Given the description of an element on the screen output the (x, y) to click on. 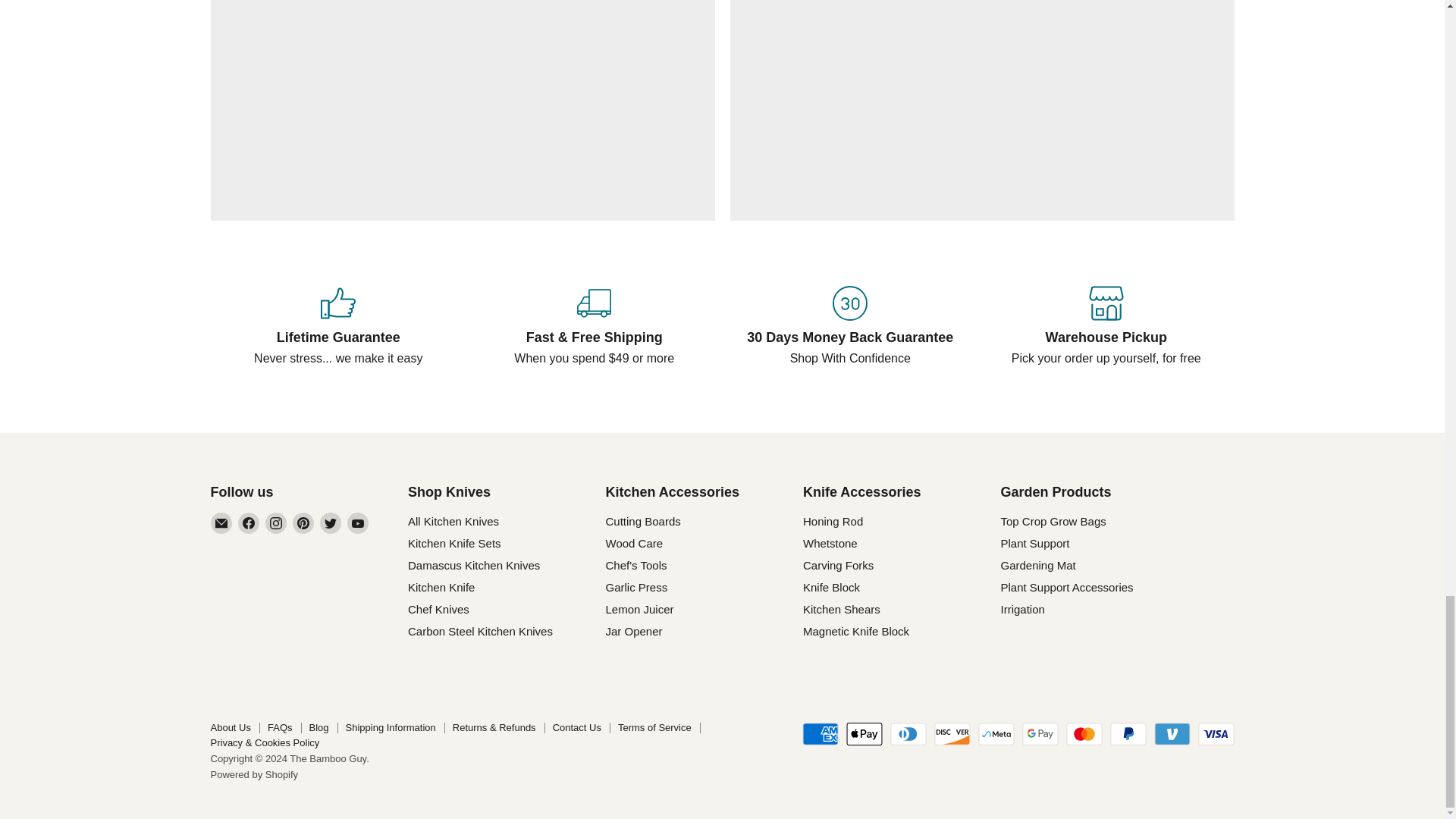
Pinterest (303, 522)
Email (221, 522)
Facebook (248, 522)
Instagram (275, 522)
YouTube (357, 522)
Twitter (330, 522)
